Given the description of an element on the screen output the (x, y) to click on. 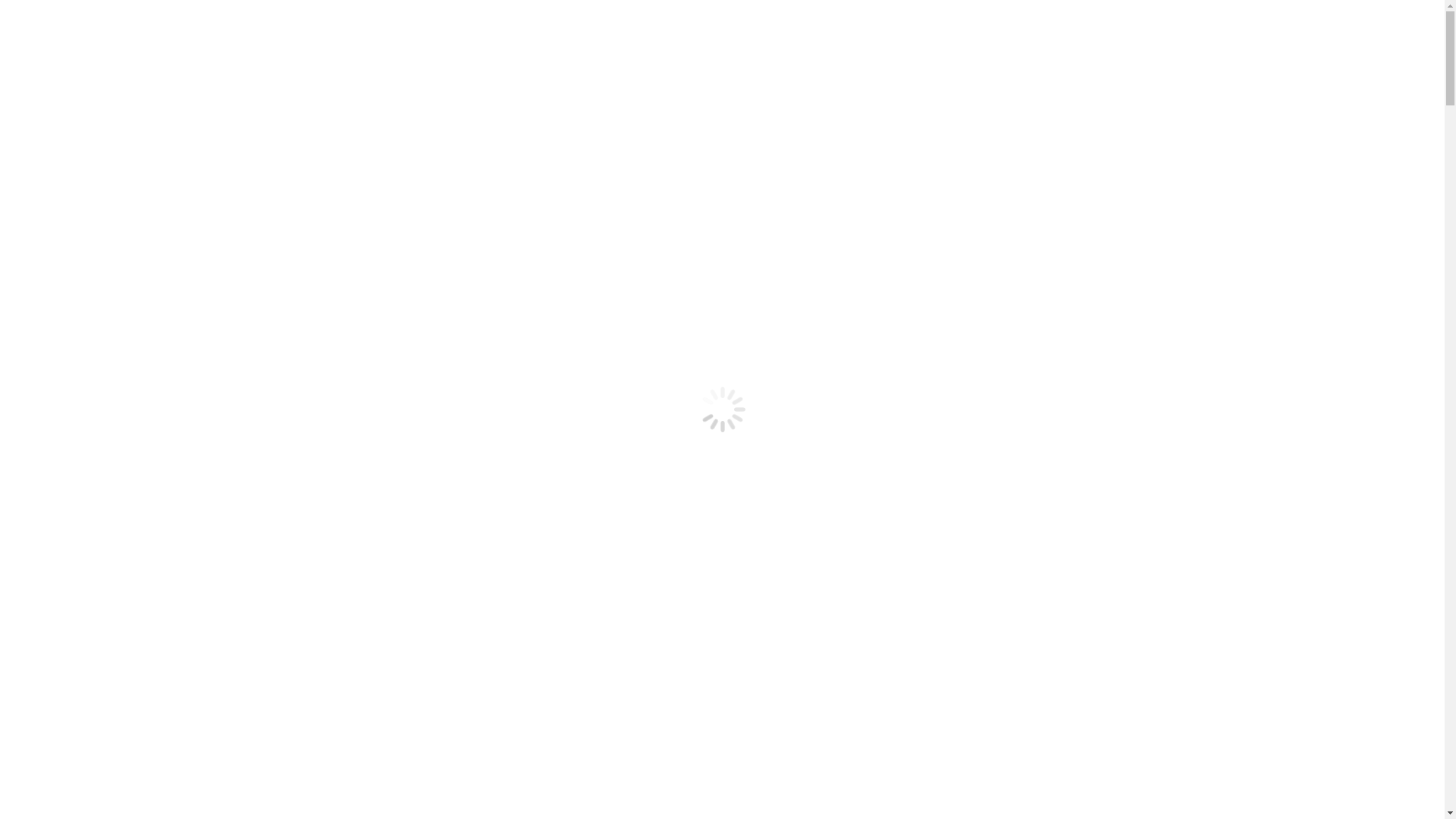
Go! Element type: text (23, 16)
Islamske knjige Element type: text (827, 60)
Istanbul shop Element type: text (494, 60)
Blog Element type: text (909, 60)
Ukrasi Element type: text (739, 60)
Pretraga.. Element type: text (1147, 60)
Svi proizvodi Element type: text (594, 60)
Facebook page opens in new window Element type: text (1166, 13)
